Given the description of an element on the screen output the (x, y) to click on. 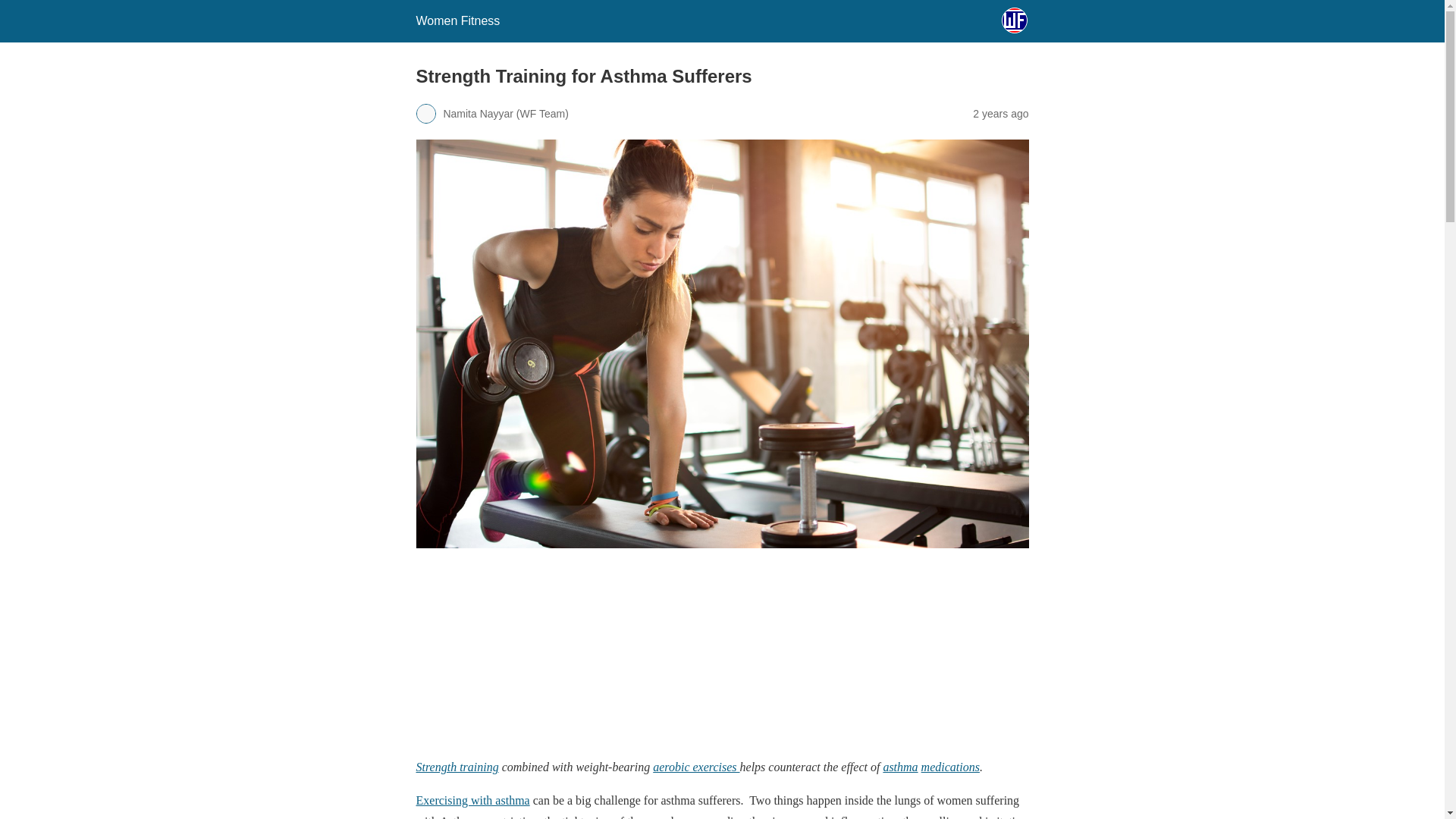
Exercising with asthma (471, 799)
medications (950, 766)
asthma (899, 766)
aerobic exercises  (695, 766)
Strength training (455, 766)
Women Fitness (456, 20)
